Given the description of an element on the screen output the (x, y) to click on. 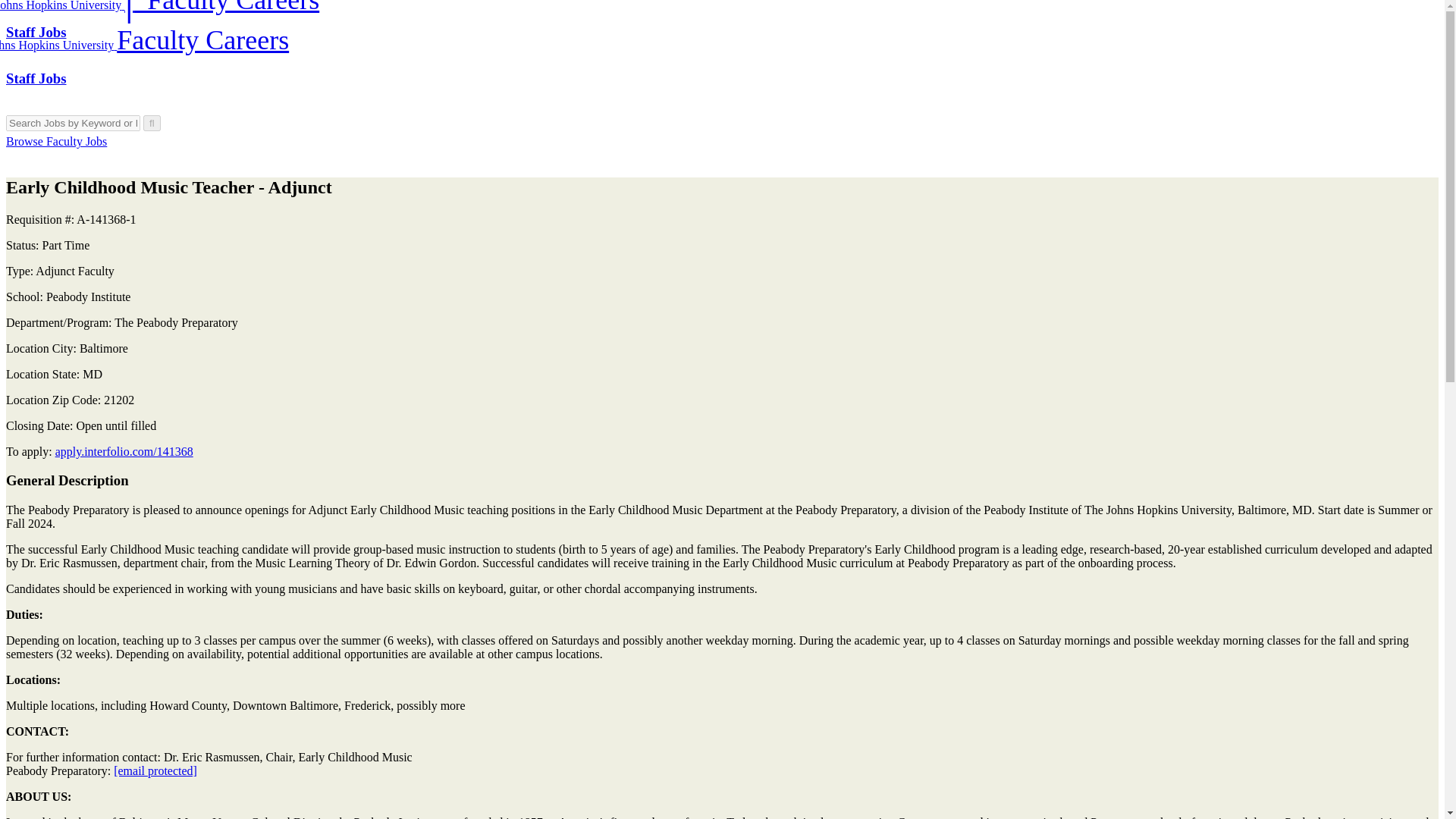
, (1164, 549)
Staff Jobs (35, 78)
Browse Faculty Jobs (55, 141)
Faculty Careers (202, 27)
Staff Jobs (35, 32)
